Given the description of an element on the screen output the (x, y) to click on. 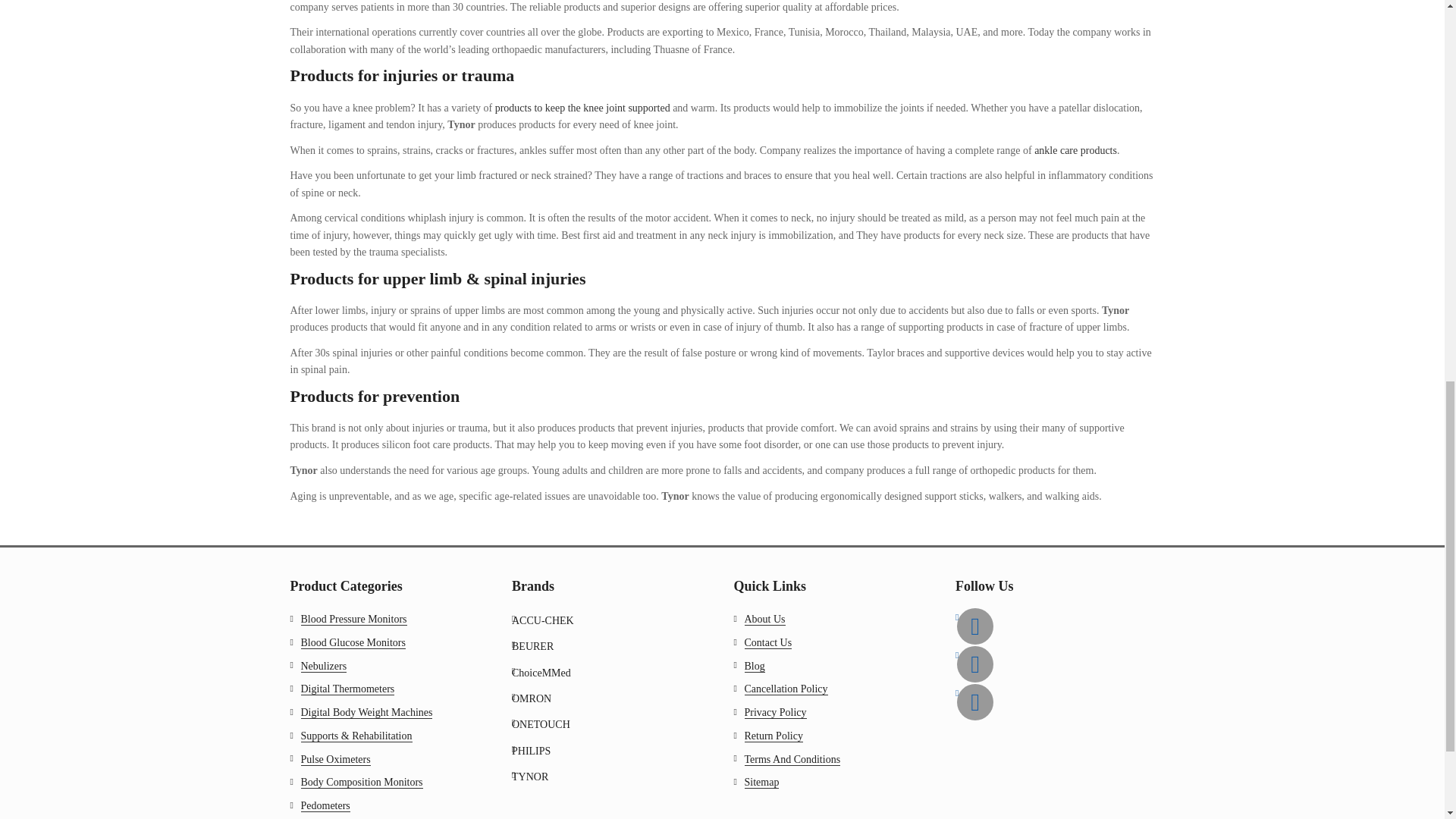
Facebook (974, 626)
Instagram (974, 701)
Twitter (974, 664)
